Given the description of an element on the screen output the (x, y) to click on. 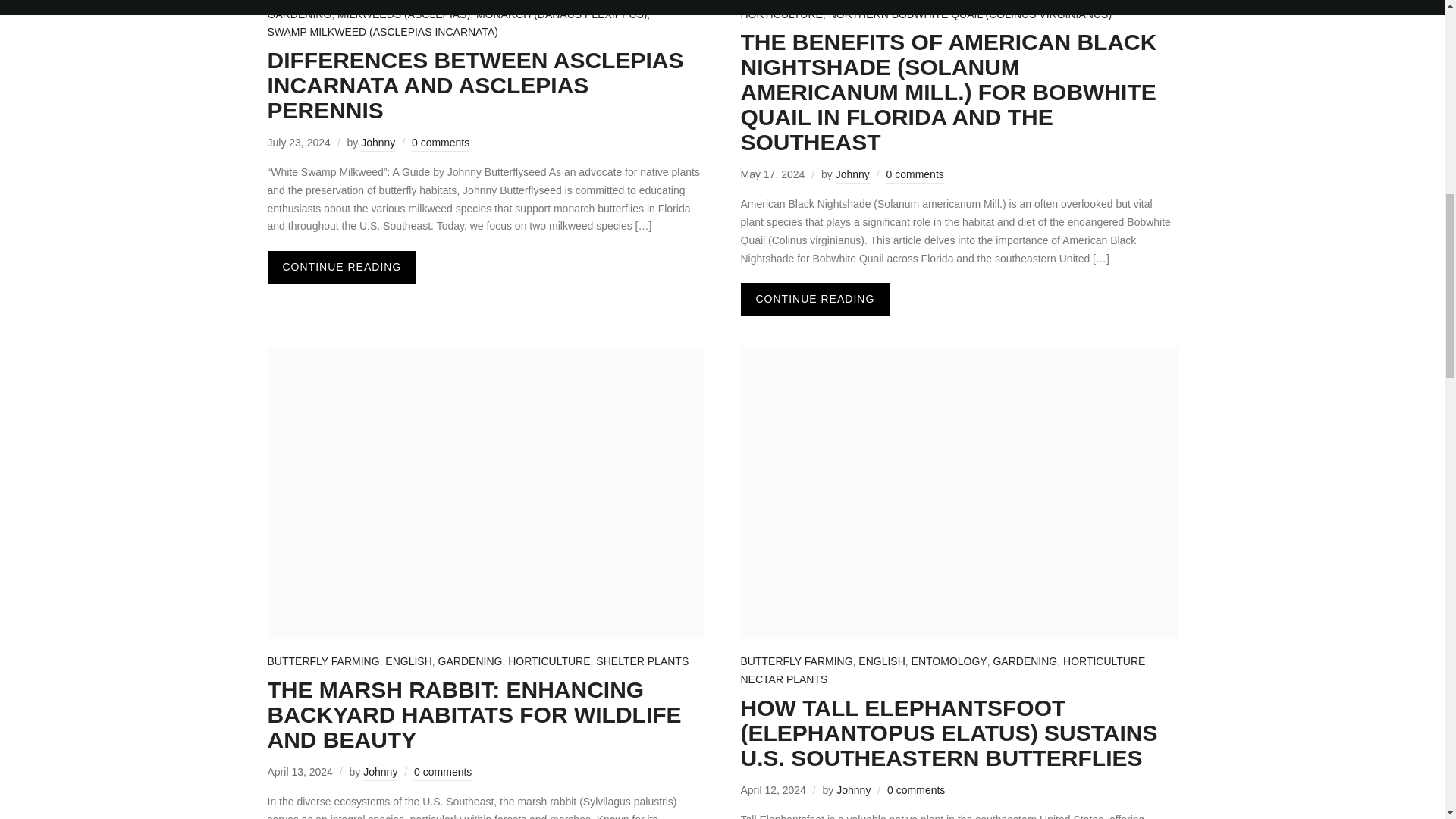
ENGLISH (646, 2)
GARDENING (298, 14)
Posts by Johnny (377, 143)
Johnny (377, 143)
Posts by Johnny (379, 773)
BUTTERFLY FARMING (561, 2)
Posts by Johnny (852, 175)
Posts by Johnny (852, 791)
